Given the description of an element on the screen output the (x, y) to click on. 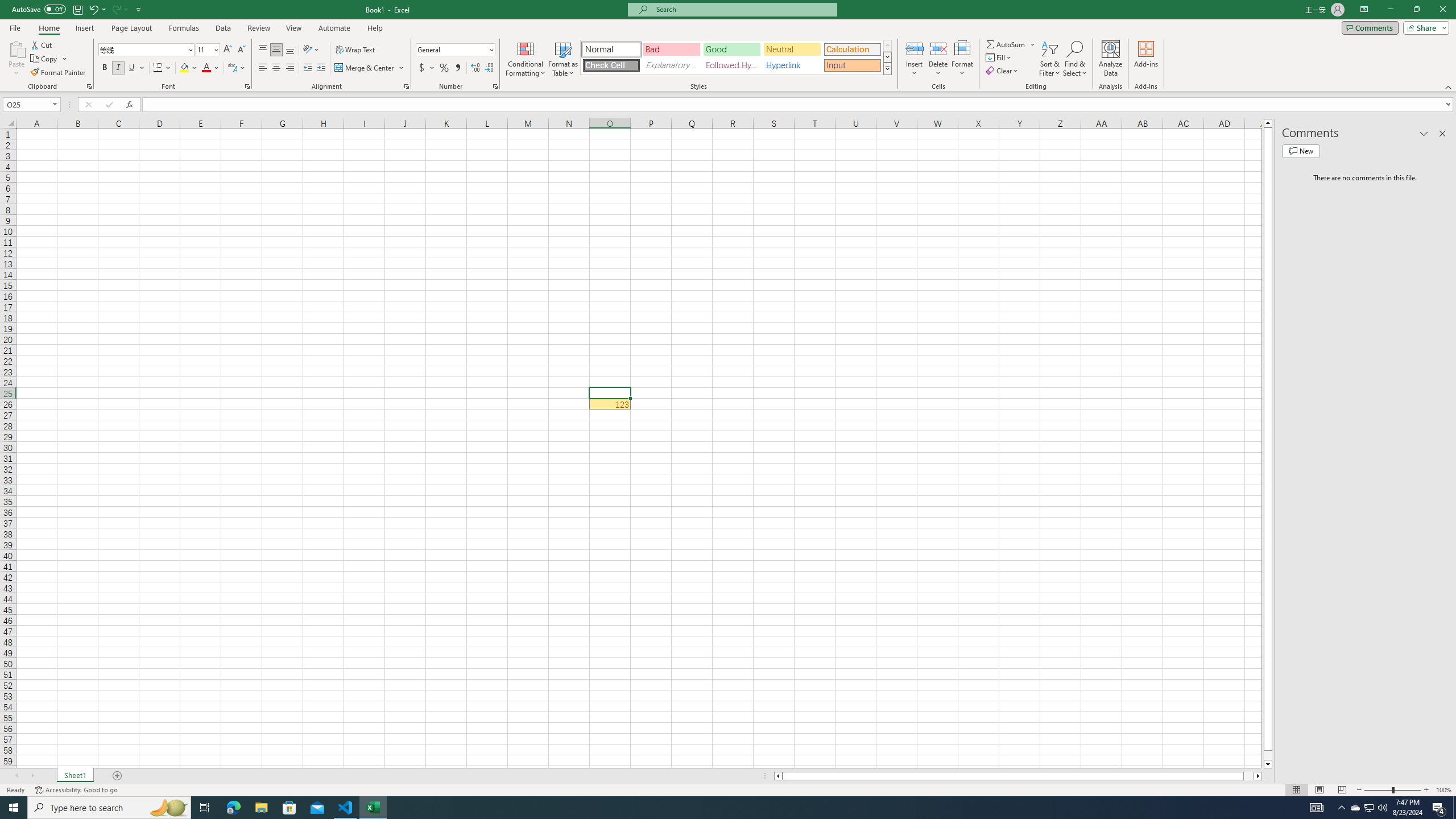
Fill (999, 56)
Delete Cells... (938, 48)
Cut (42, 44)
Class: NetUIImage (887, 68)
Format Cell Alignment (405, 85)
Analyze Data (1110, 58)
AutoSum (1011, 44)
Followed Hyperlink (731, 65)
Fill Color RGB(255, 255, 0) (183, 67)
Italic (118, 67)
